Given the description of an element on the screen output the (x, y) to click on. 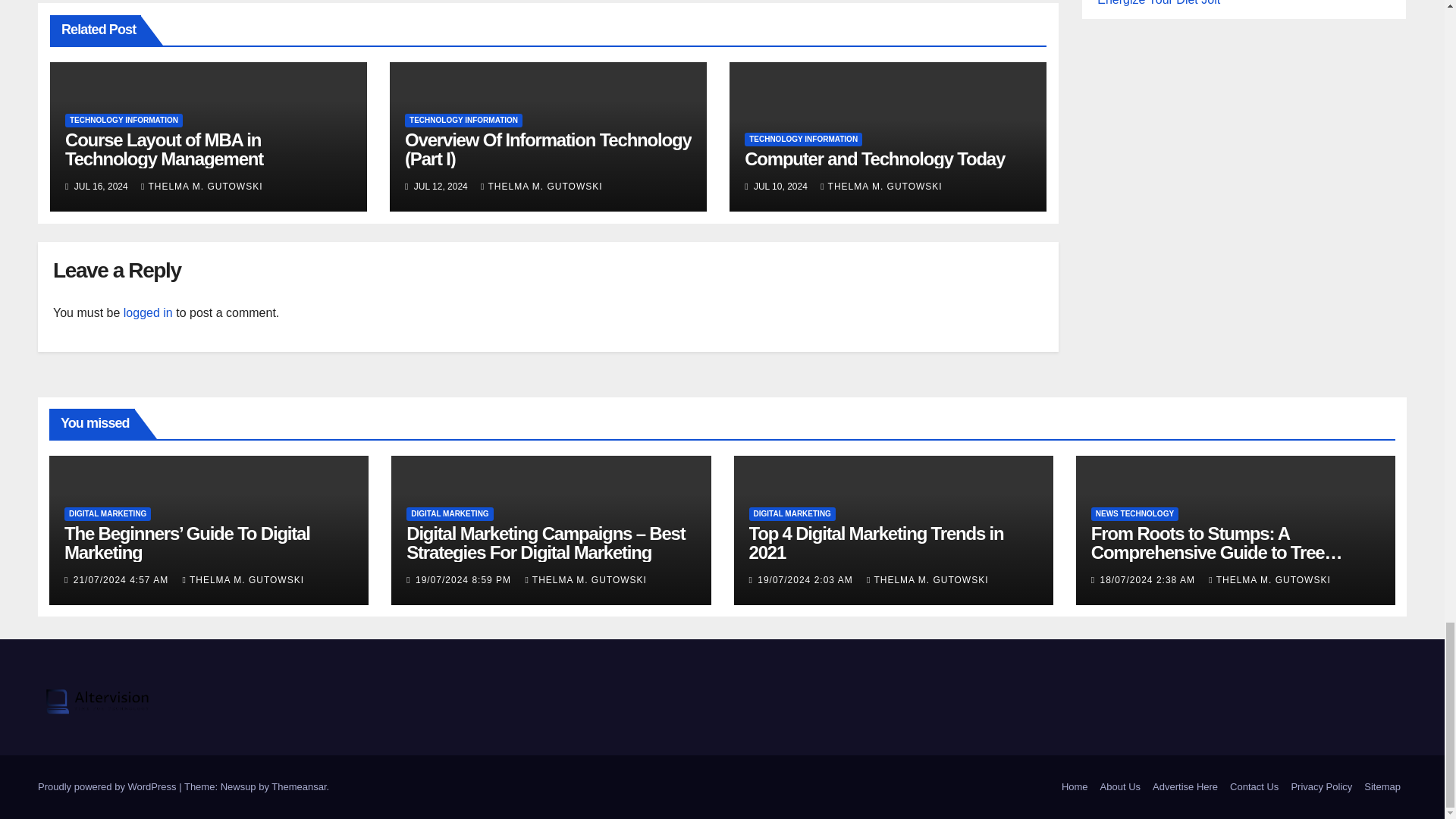
Permalink to: Course Layout of MBA in Technology Management (164, 148)
Permalink to: Computer and Technology Today (874, 158)
TECHNOLOGY INFORMATION (124, 120)
Course Layout of MBA in Technology Management (164, 148)
